Given the description of an element on the screen output the (x, y) to click on. 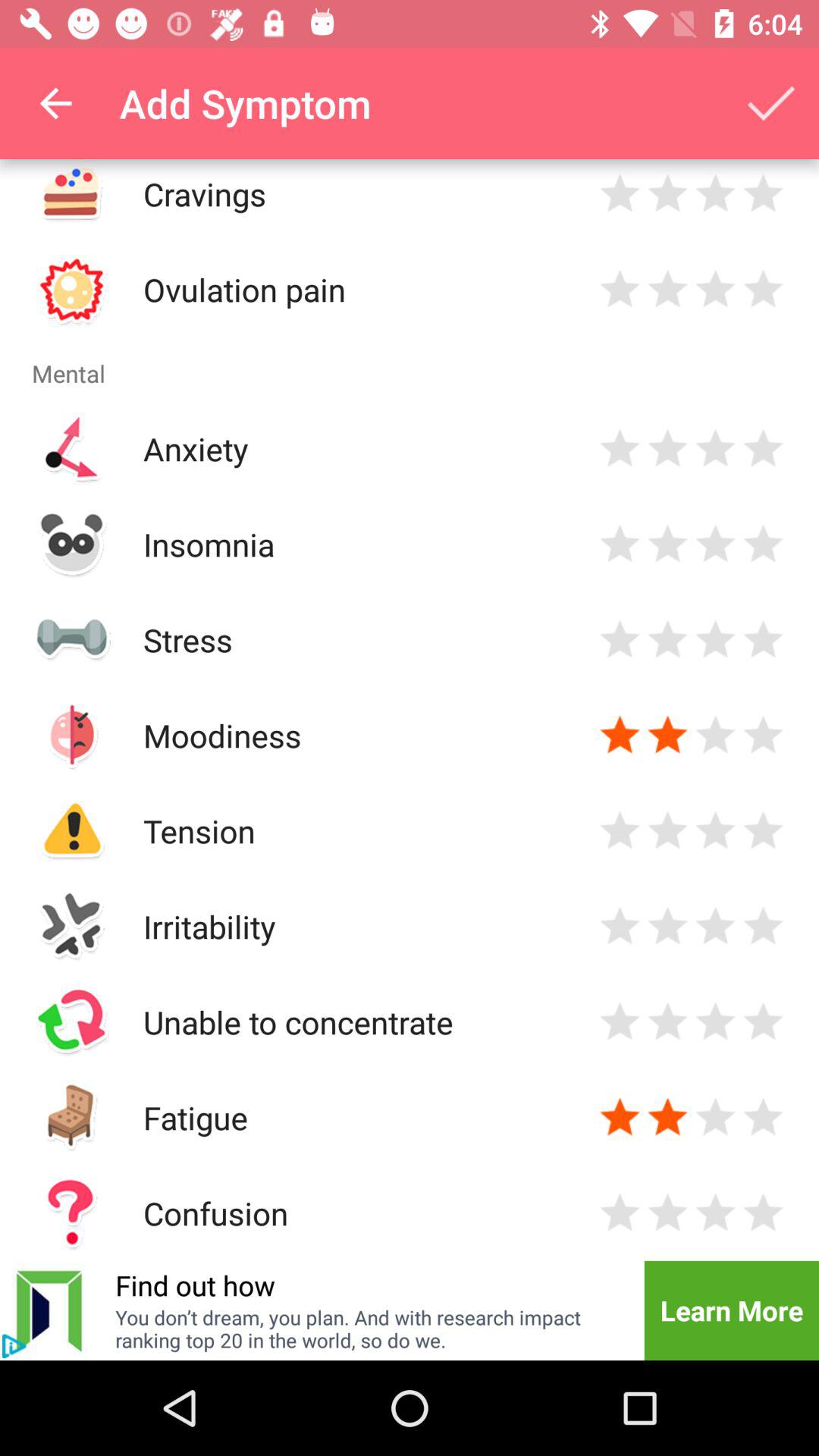
open icon to the left of the find out how (49, 1310)
